Given the description of an element on the screen output the (x, y) to click on. 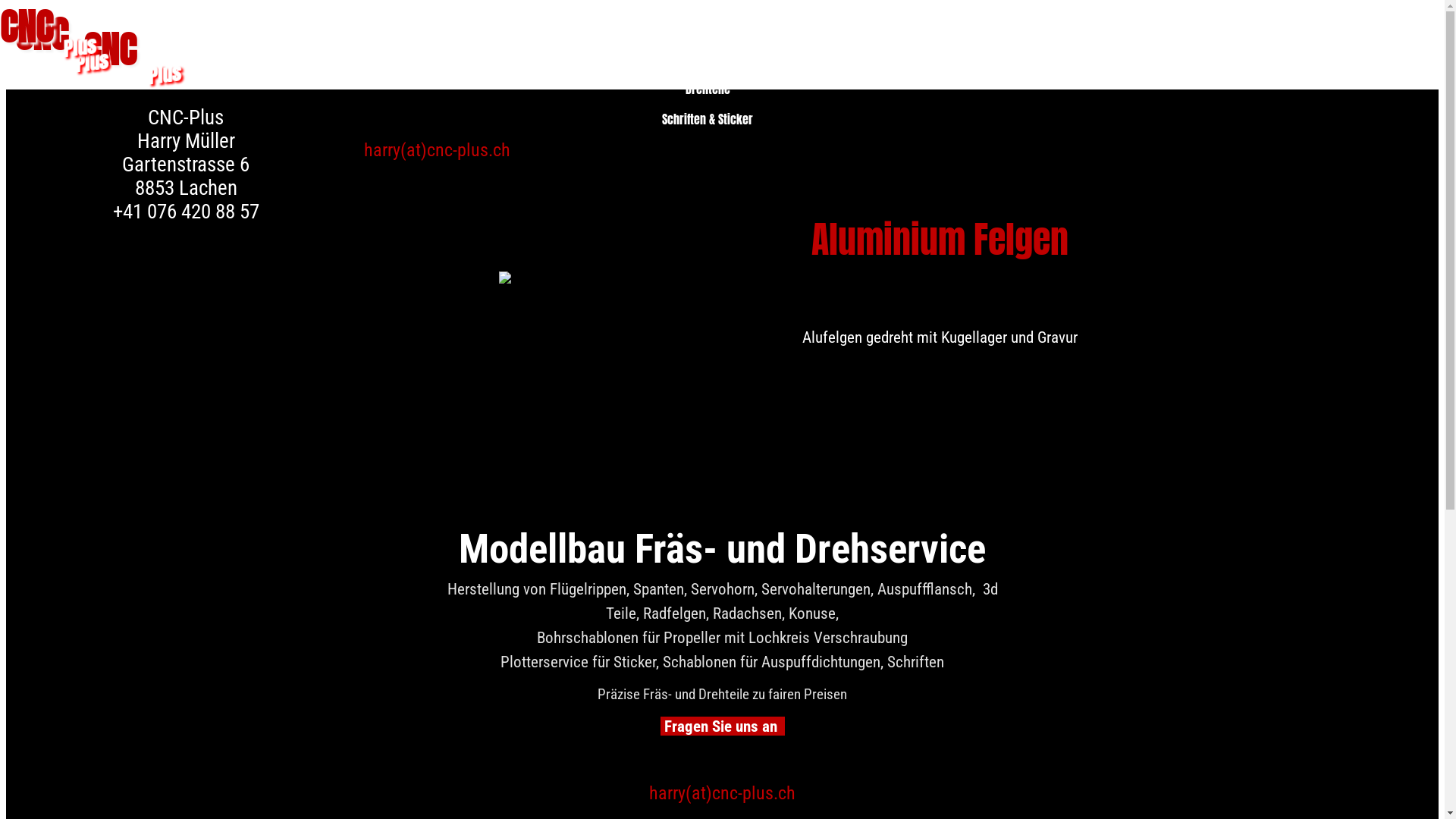
Drehteile Element type: text (707, 87)
0 Element type: text (4, 4)
Kontakt Element type: text (808, 51)
Schriften & Sticker Element type: text (707, 118)
Homepage Element type: text (593, 51)
harry(at)cnc-plus.ch Element type: text (437, 149)
harry(at)cnc-plus.ch Element type: text (722, 792)
Kontakt Element type: text (808, 38)
Unsere Leistungen Element type: text (701, 38)
Homepage Element type: text (593, 38)
Unsere Leistungen Element type: text (701, 51)
